Given the description of an element on the screen output the (x, y) to click on. 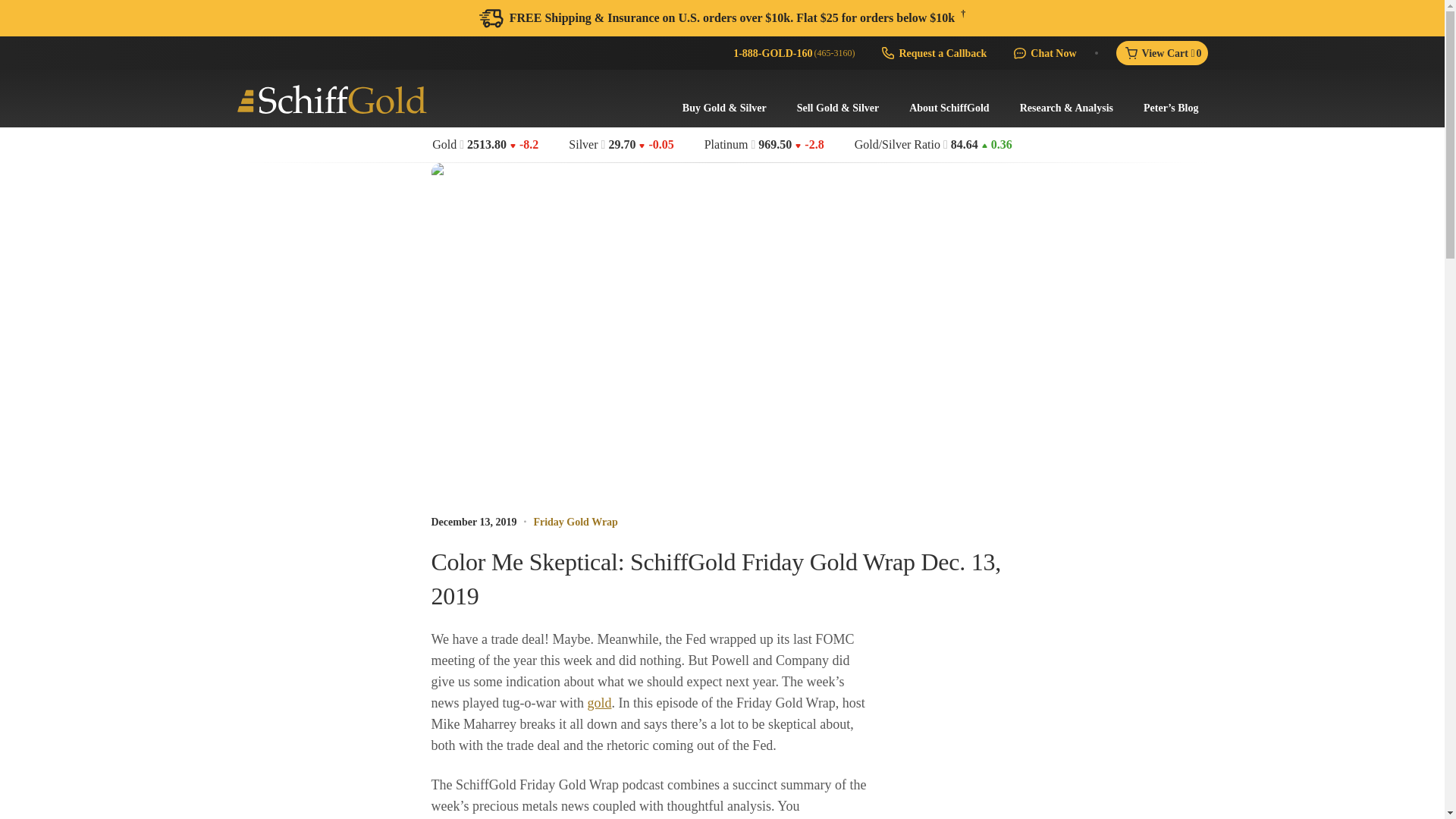
Silver (582, 144)
Platinum (726, 144)
Chat Now (1042, 52)
gold (598, 702)
About SchiffGold (948, 108)
Request a Callback (932, 52)
Gold (444, 144)
